Given the description of an element on the screen output the (x, y) to click on. 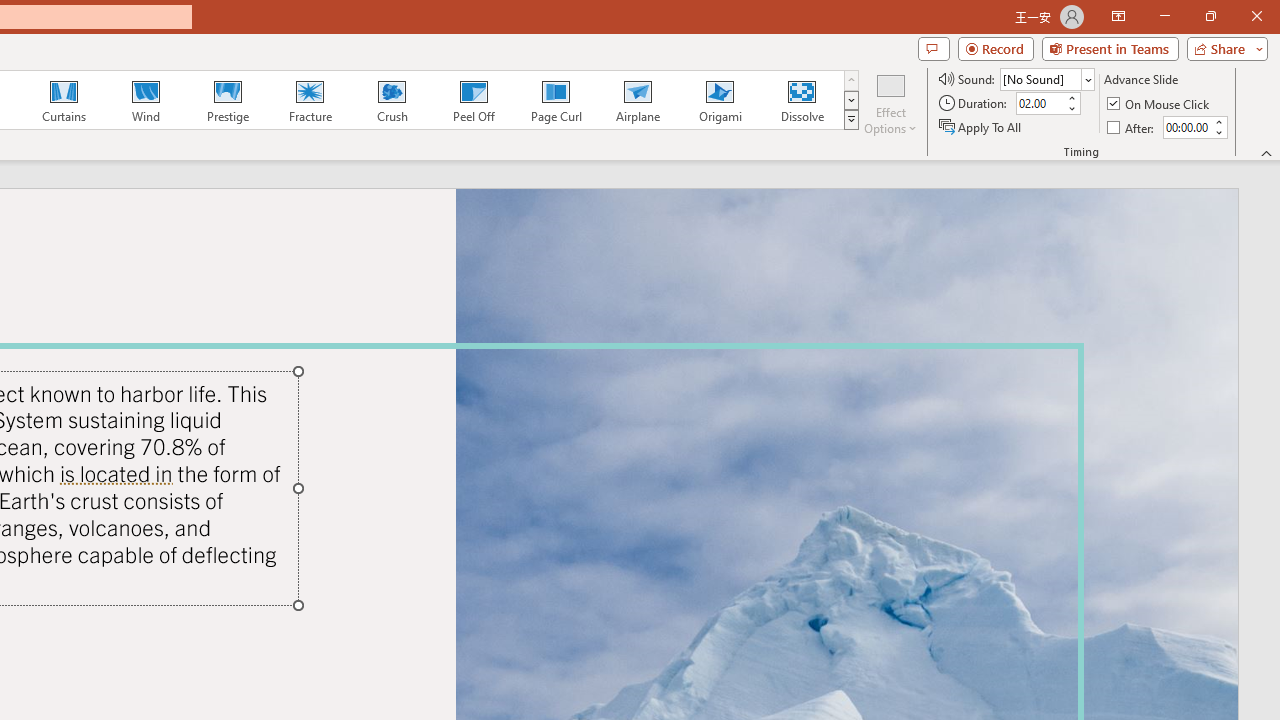
Effect Options (890, 102)
After (1186, 127)
After (1131, 126)
Crush (391, 100)
Prestige (227, 100)
Origami (719, 100)
Curtains (63, 100)
Fracture (309, 100)
Transition Effects (850, 120)
Dissolve (802, 100)
